Given the description of an element on the screen output the (x, y) to click on. 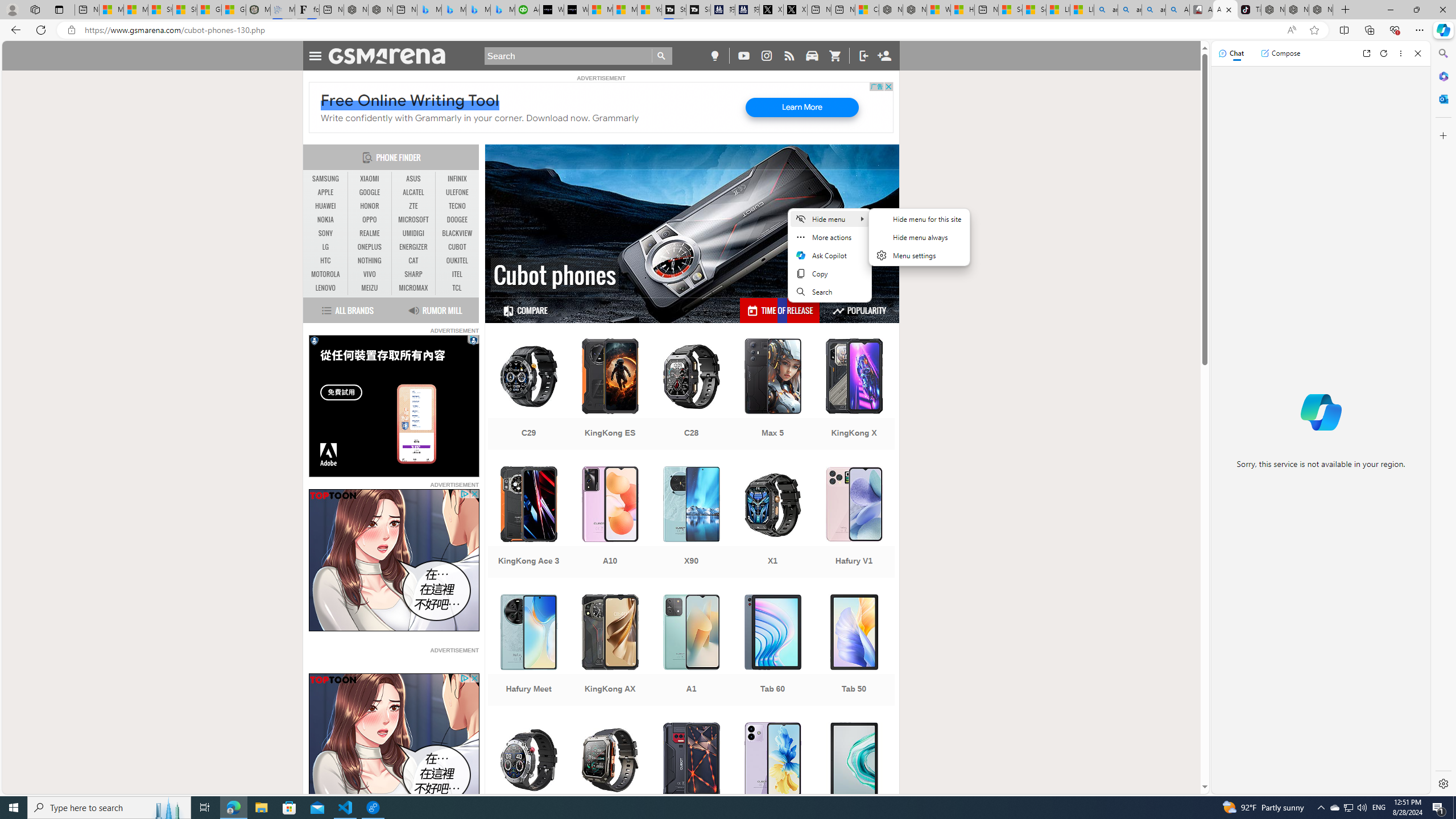
TCL (457, 287)
NOKIA (325, 219)
OPPO (369, 219)
Hide menu (828, 218)
HONOR (369, 205)
MICROSOFT (413, 219)
Hide menu always (919, 236)
NOKIA (325, 219)
